Given the description of an element on the screen output the (x, y) to click on. 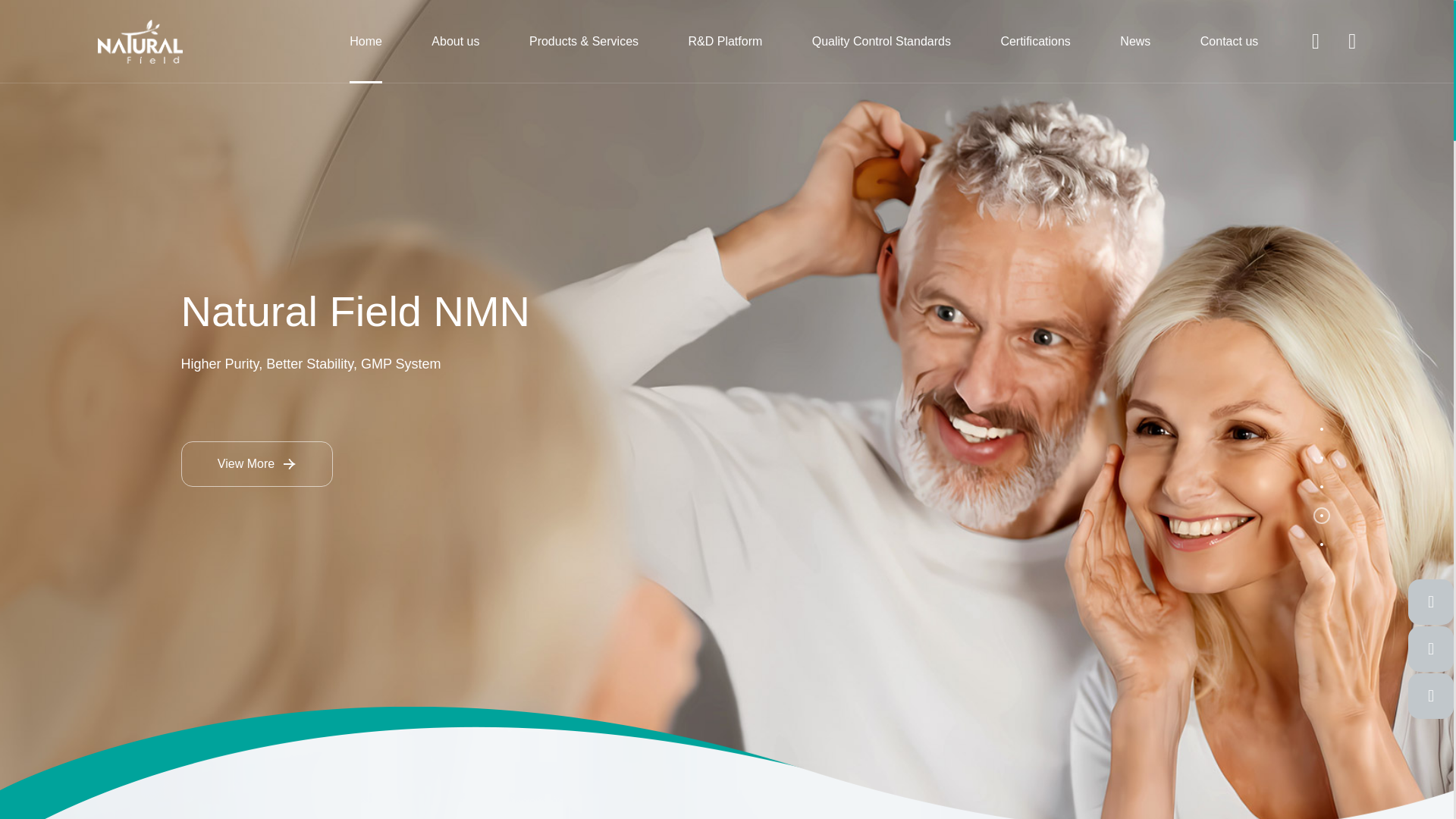
Quality Control Standards (881, 41)
